Given the description of an element on the screen output the (x, y) to click on. 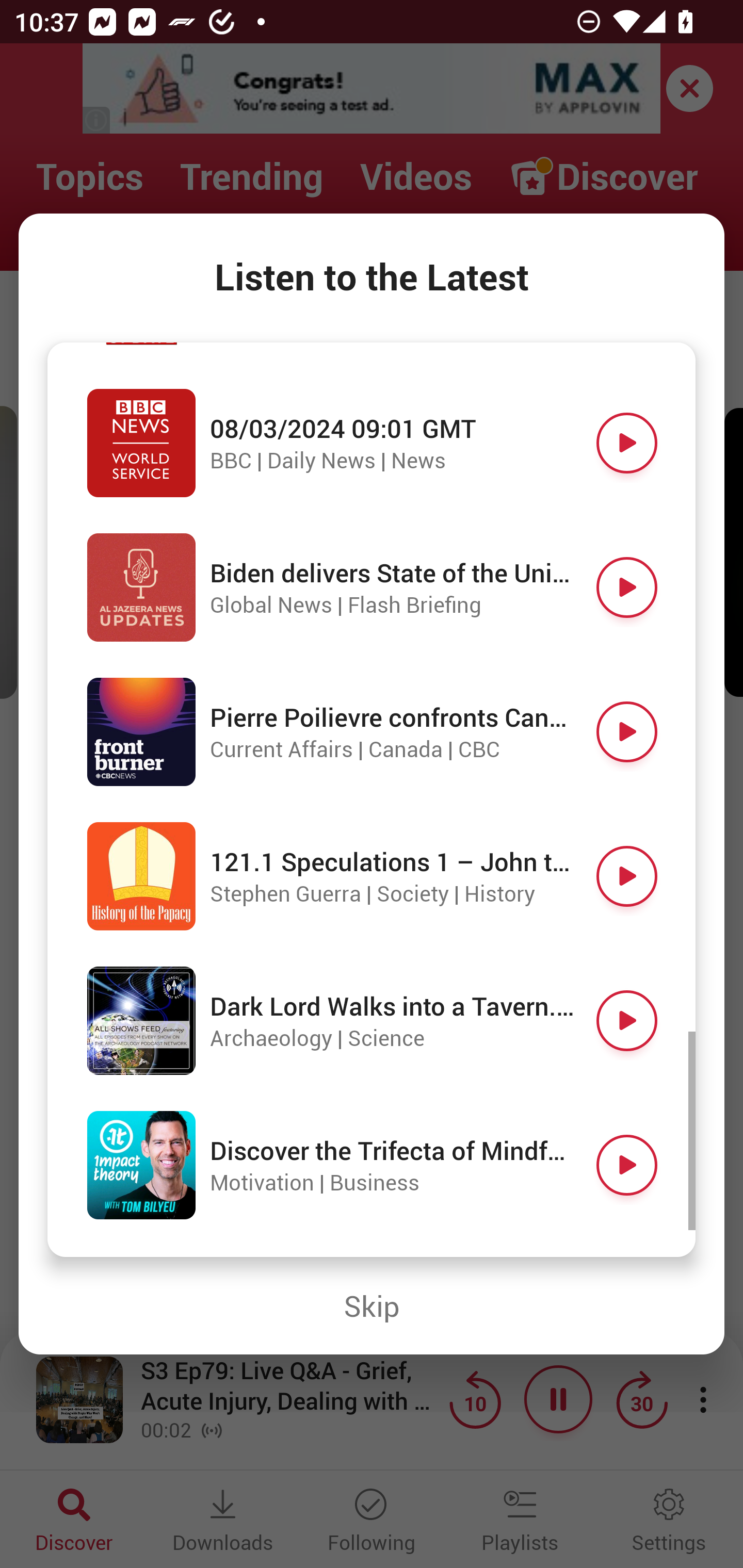
Skip (371, 1305)
